Given the description of an element on the screen output the (x, y) to click on. 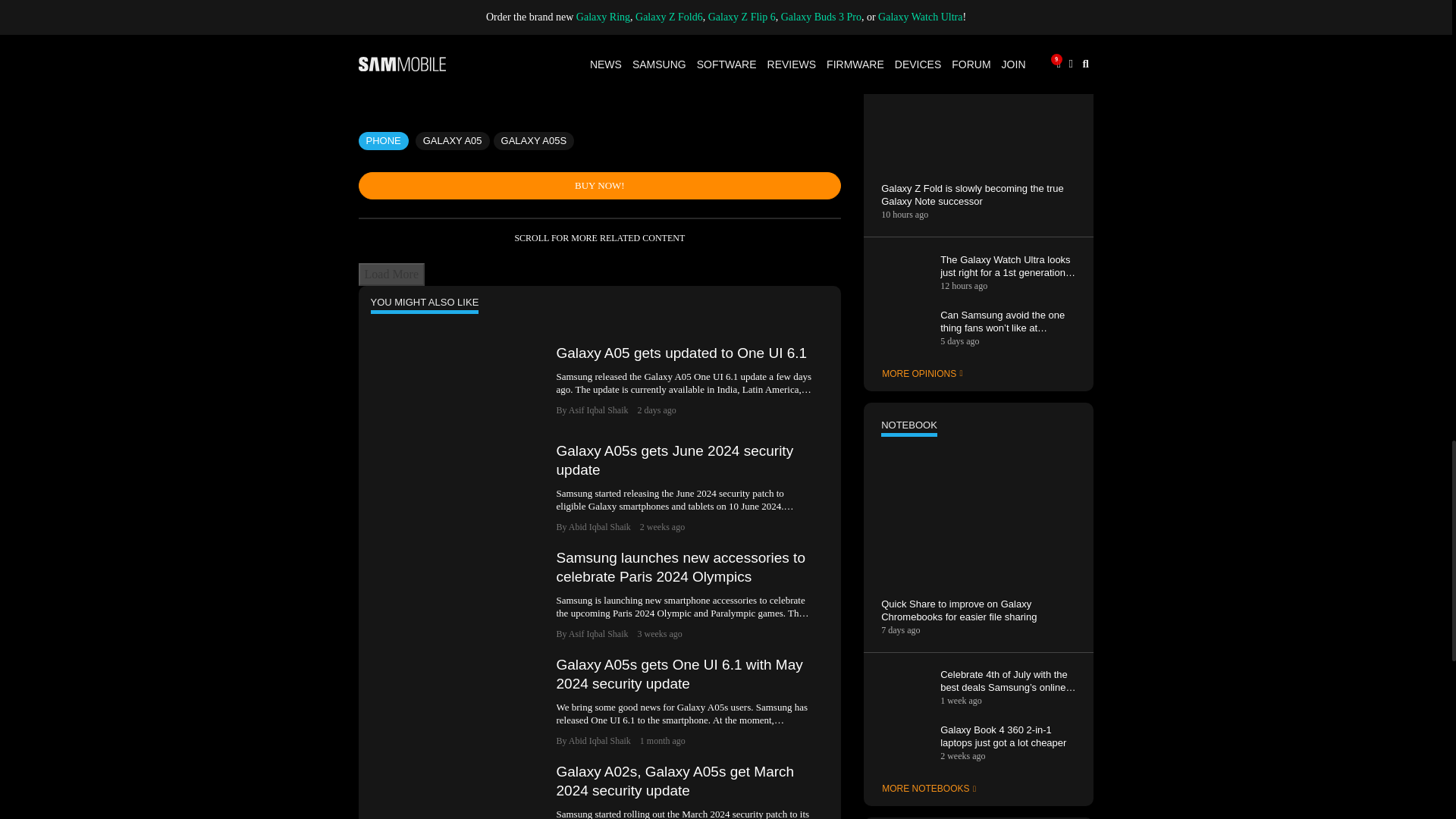
SCROLL FOR MORE RELATED CONTENT (599, 237)
